Given the description of an element on the screen output the (x, y) to click on. 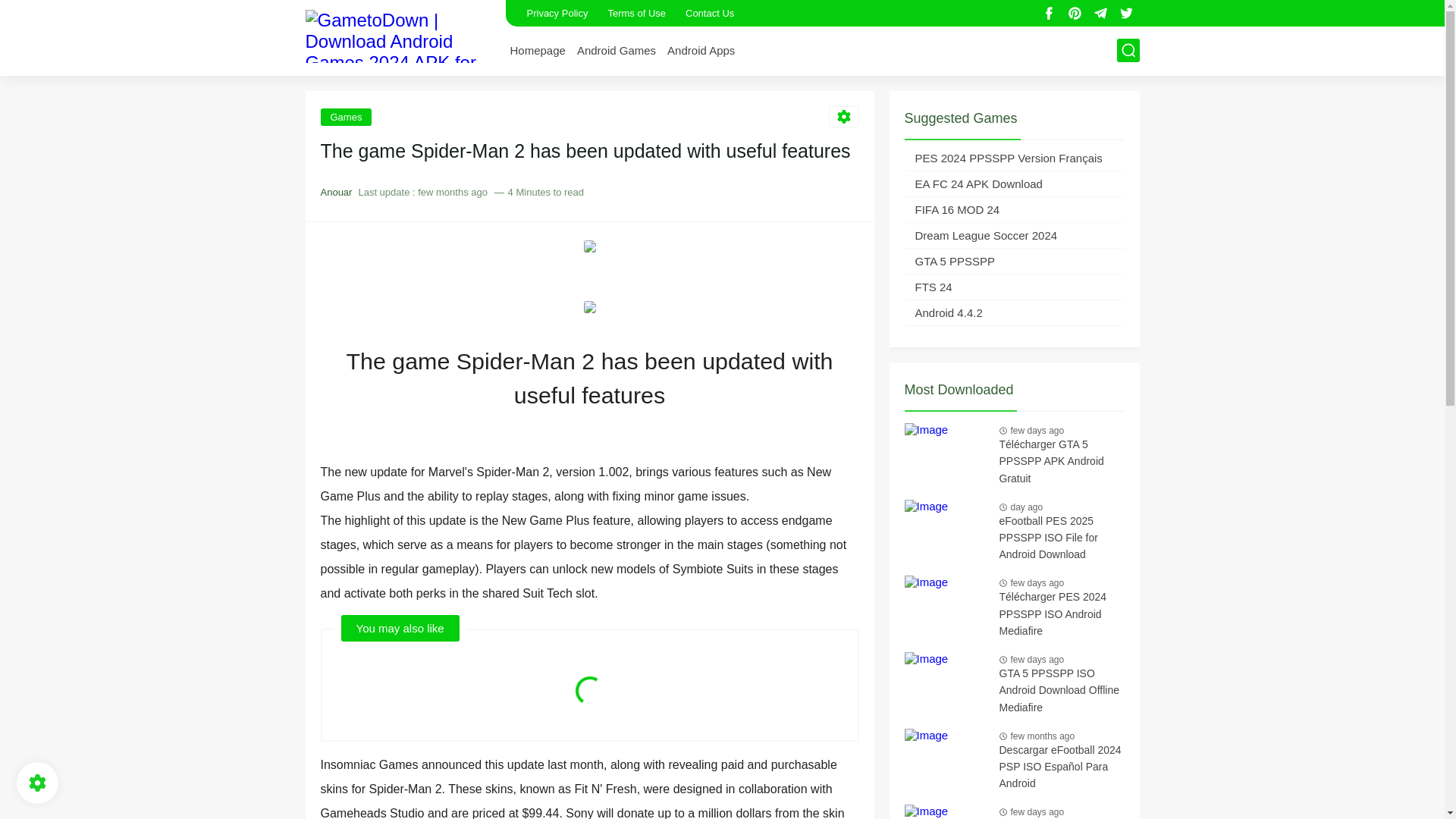
telegram (1100, 13)
Android Games (616, 50)
FTS 24 (1014, 286)
Homepage (536, 50)
FIFA 16 MOD 24 (1014, 209)
Games (345, 116)
Terms of Use (636, 12)
Games (345, 116)
GTA 5 PPSSPP (1014, 260)
pinterest (1074, 13)
Homepage (536, 50)
Dream League Soccer 2024 (1014, 235)
Privacy Policy (556, 12)
Android Apps (700, 50)
Android Games (616, 50)
